Given the description of an element on the screen output the (x, y) to click on. 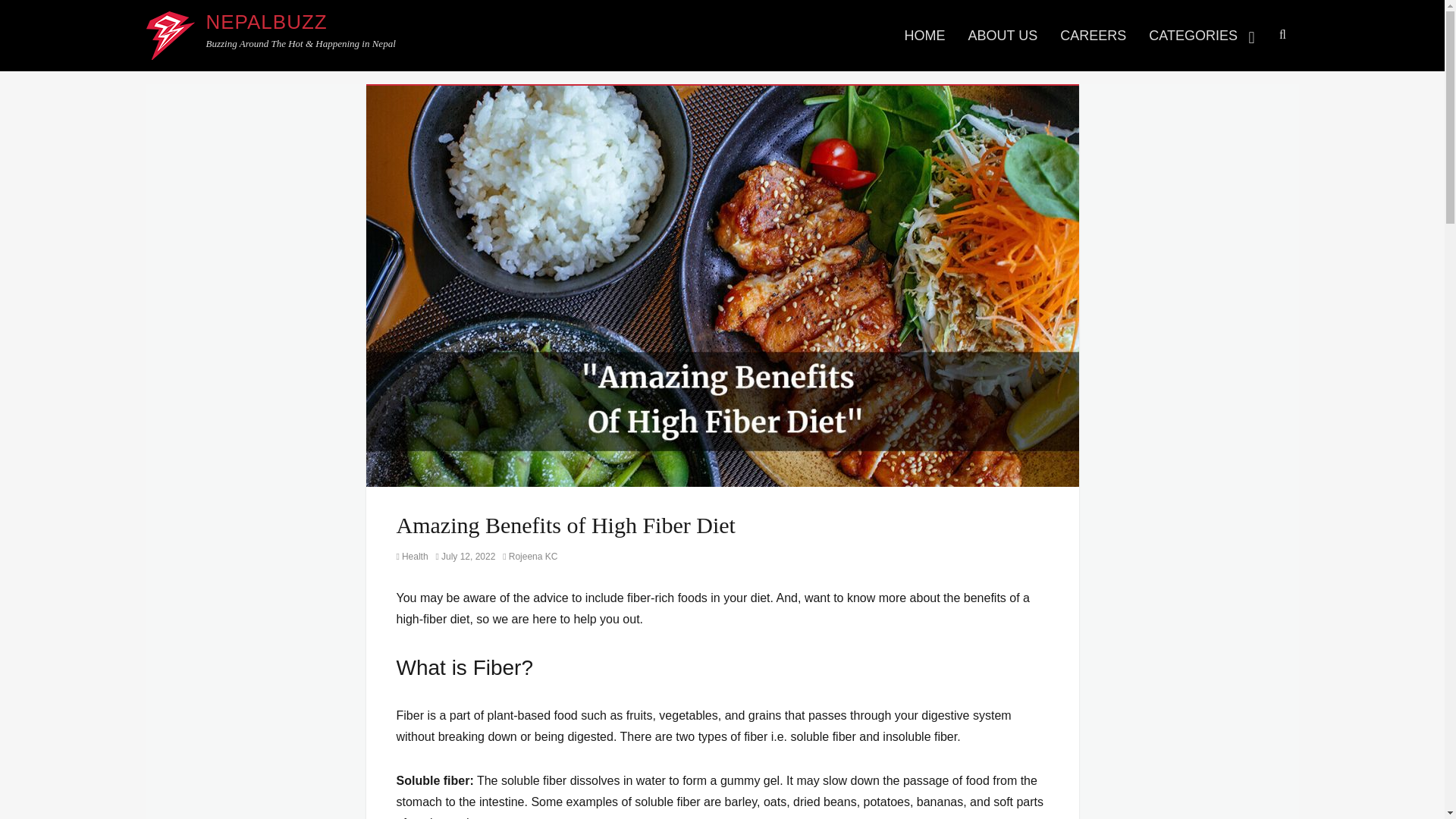
Health (412, 556)
HOME (924, 35)
CAREERS (1092, 35)
July 12, 2022 (465, 556)
NEPALBUZZ (266, 21)
ABOUT US (1002, 35)
CATEGORIES (1202, 35)
Rojeena KC (529, 556)
